Given the description of an element on the screen output the (x, y) to click on. 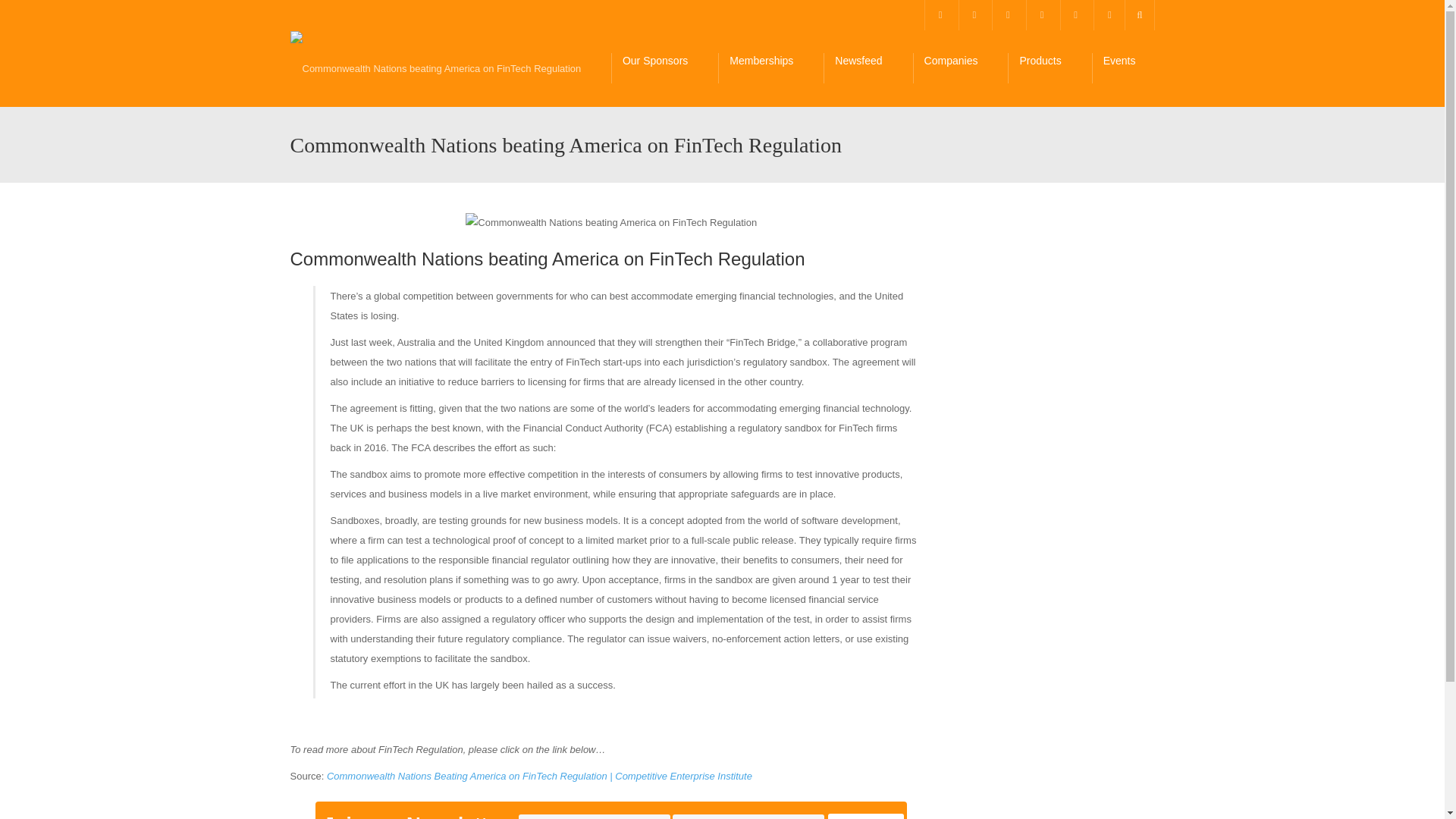
Commonwealth Nations beating America on FinTech Regulation (434, 67)
Products (1048, 68)
Events (1129, 68)
Commonwealth Nations beating America on FinTech Regulation (611, 222)
Sign up! (866, 816)
Newsfeed (868, 68)
Companies (960, 68)
Sign up! (866, 816)
Our Sponsors (664, 68)
Memberships (770, 68)
